Given the description of an element on the screen output the (x, y) to click on. 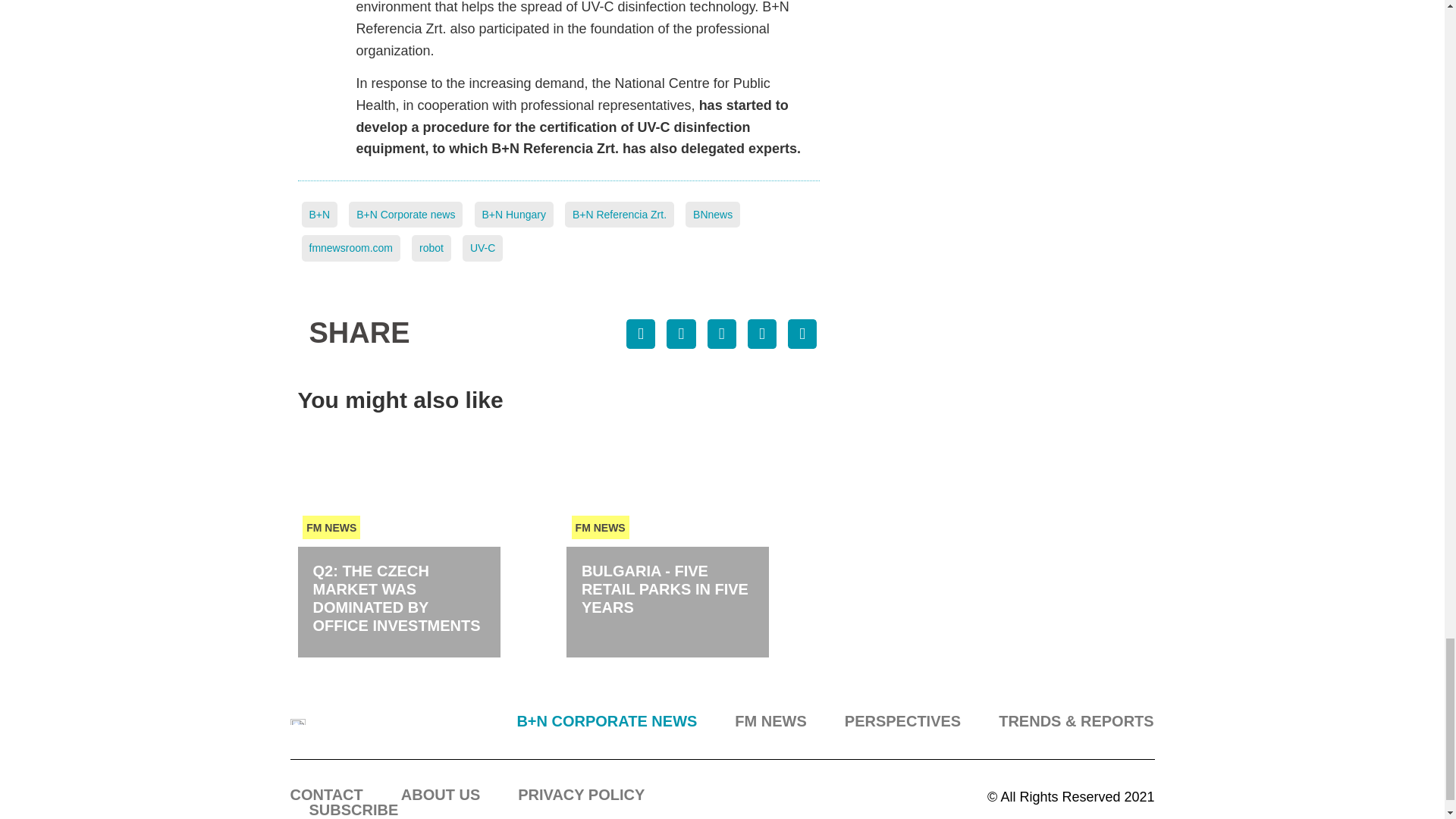
BULGARIA - FIVE RETAIL PARKS IN FIVE YEARS (664, 588)
FM NEWS (330, 526)
UV-C (482, 248)
FM NEWS (600, 526)
fmnewsroom.com (350, 248)
BNnews (712, 214)
Q2: THE CZECH MARKET WAS DOMINATED BY OFFICE INVESTMENTS (396, 597)
robot (431, 248)
